Given the description of an element on the screen output the (x, y) to click on. 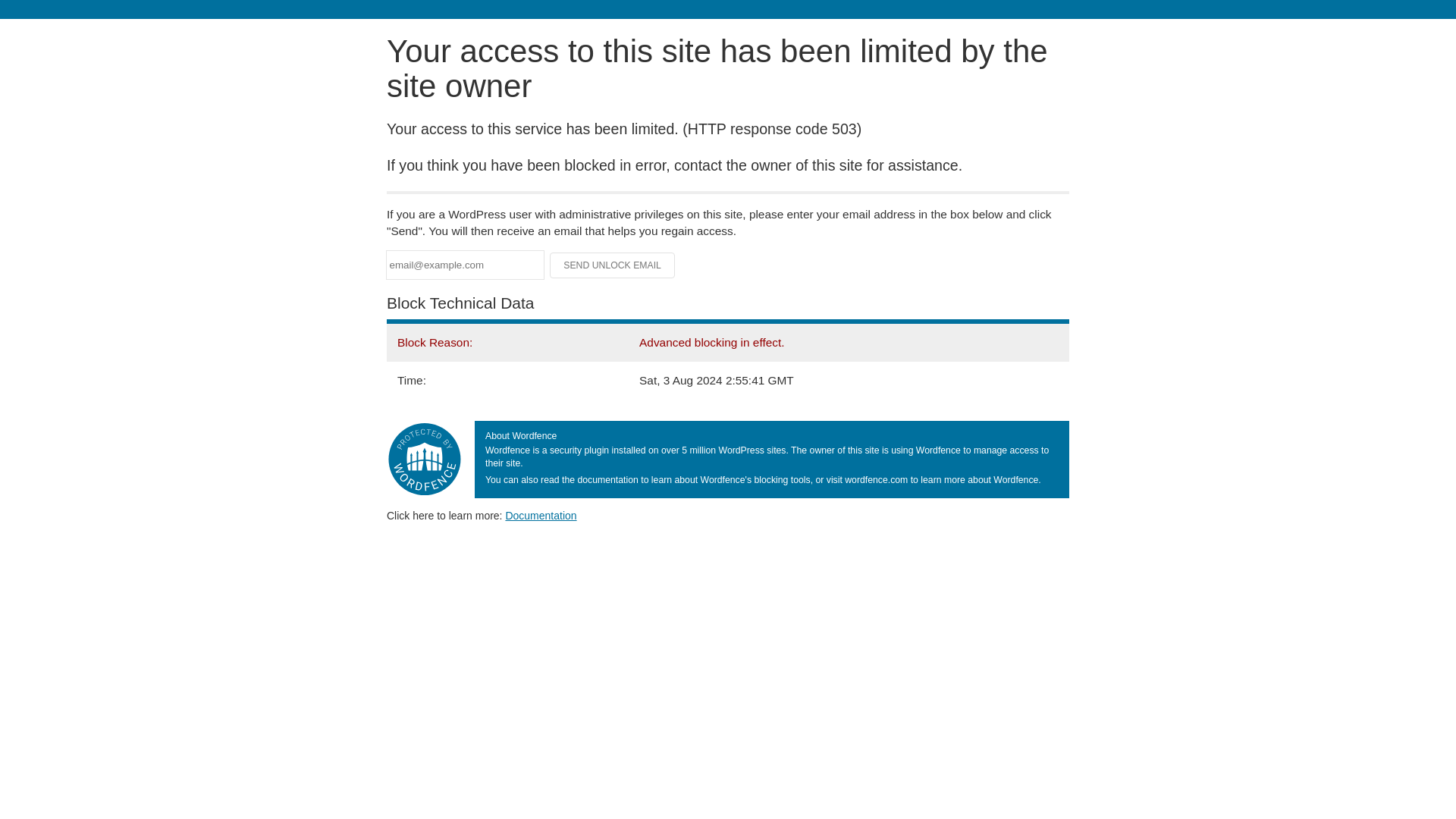
Send Unlock Email (612, 265)
Documentation (540, 515)
Send Unlock Email (612, 265)
